Given the description of an element on the screen output the (x, y) to click on. 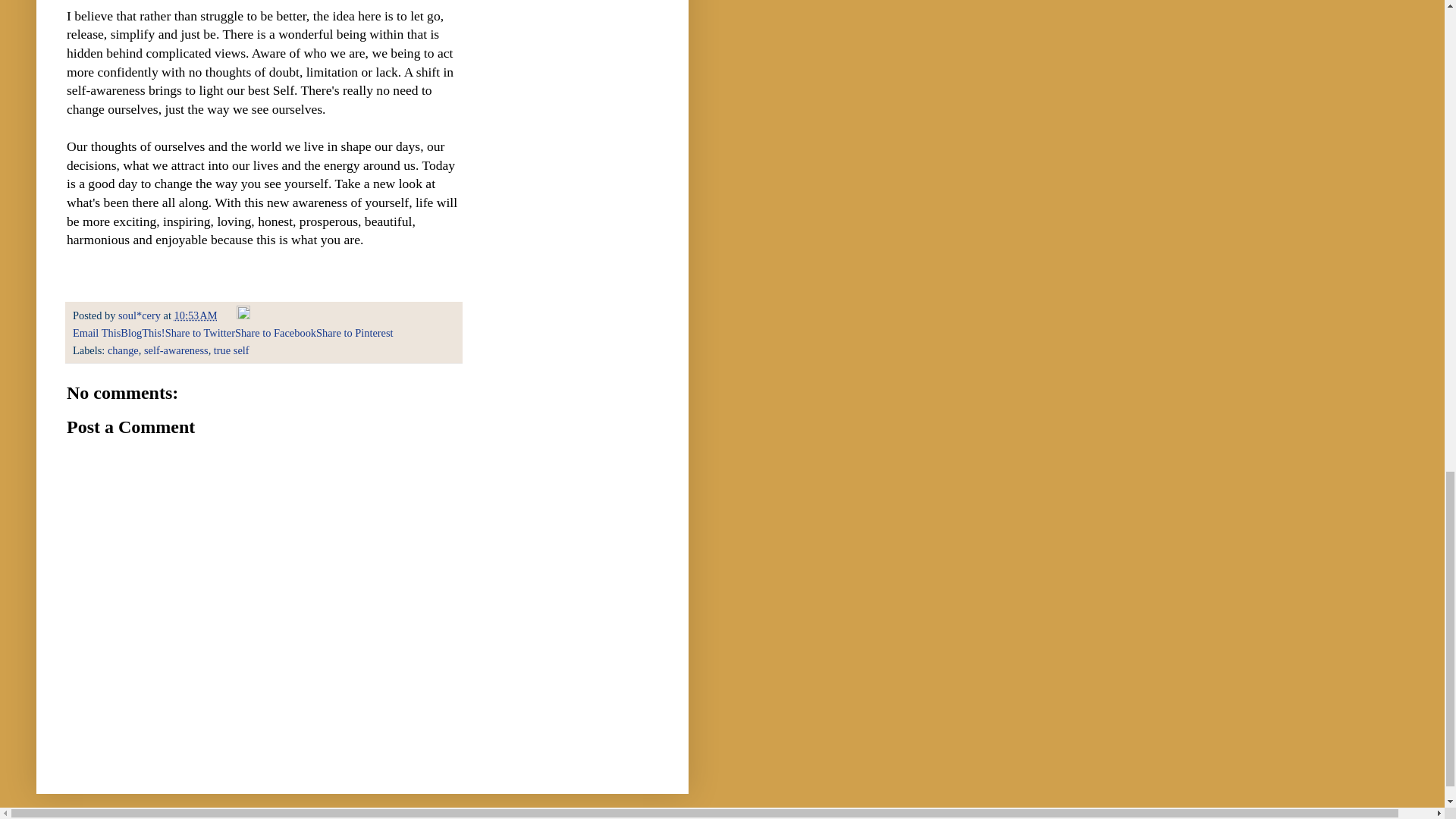
Share to Pinterest (354, 332)
Email This (96, 332)
Email This (96, 332)
Share to Facebook (274, 332)
self-awareness (176, 349)
Email Post (227, 315)
author profile (140, 315)
BlogThis! (142, 332)
Share to Twitter (199, 332)
